Given the description of an element on the screen output the (x, y) to click on. 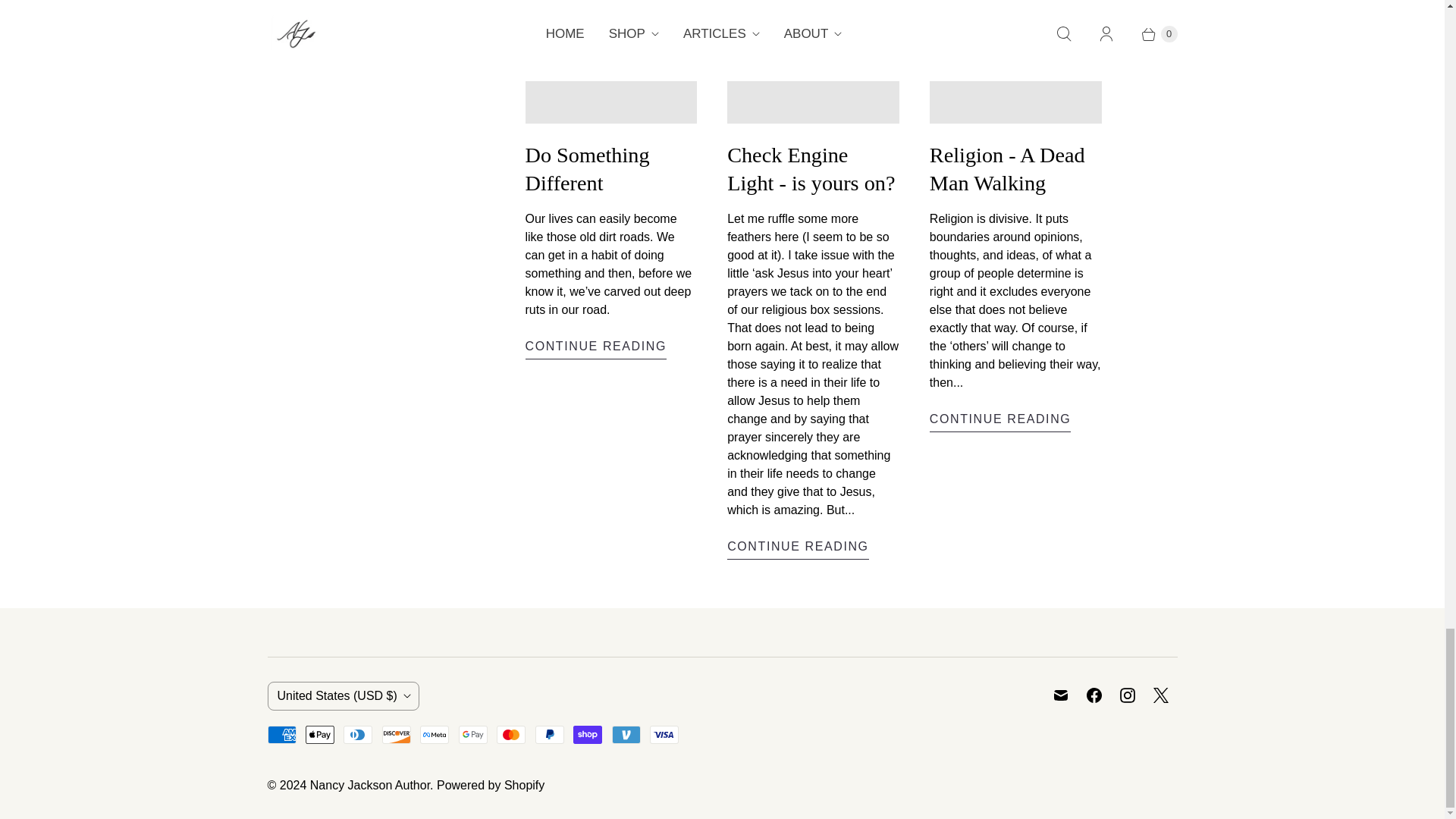
Shop Pay (587, 734)
Do Something Different (595, 348)
PayPal (549, 734)
Diners Club (357, 734)
Check Engine Light - is yours on? (810, 168)
Google Pay (472, 734)
Mastercard (510, 734)
Religion - A Dead Man Walking (1000, 421)
Check Engine Light - is yours on? (797, 548)
Do Something Different (586, 168)
